Given the description of an element on the screen output the (x, y) to click on. 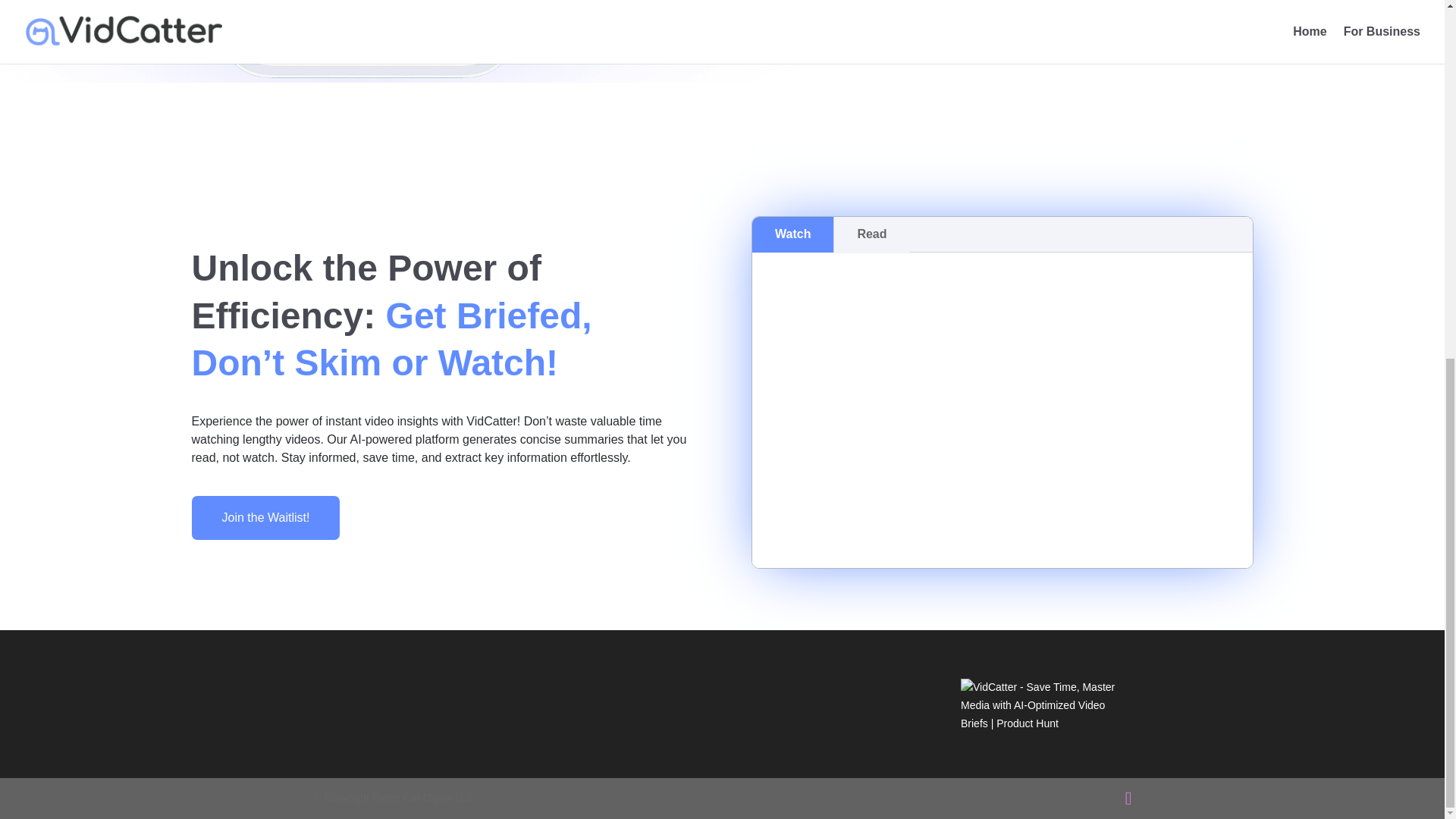
Open-AI GPT 5 - Here's What We Know So Far About ChatGPT 5 (1002, 407)
Read (871, 234)
Join the Waitlist! (264, 517)
Watch (792, 234)
